Given the description of an element on the screen output the (x, y) to click on. 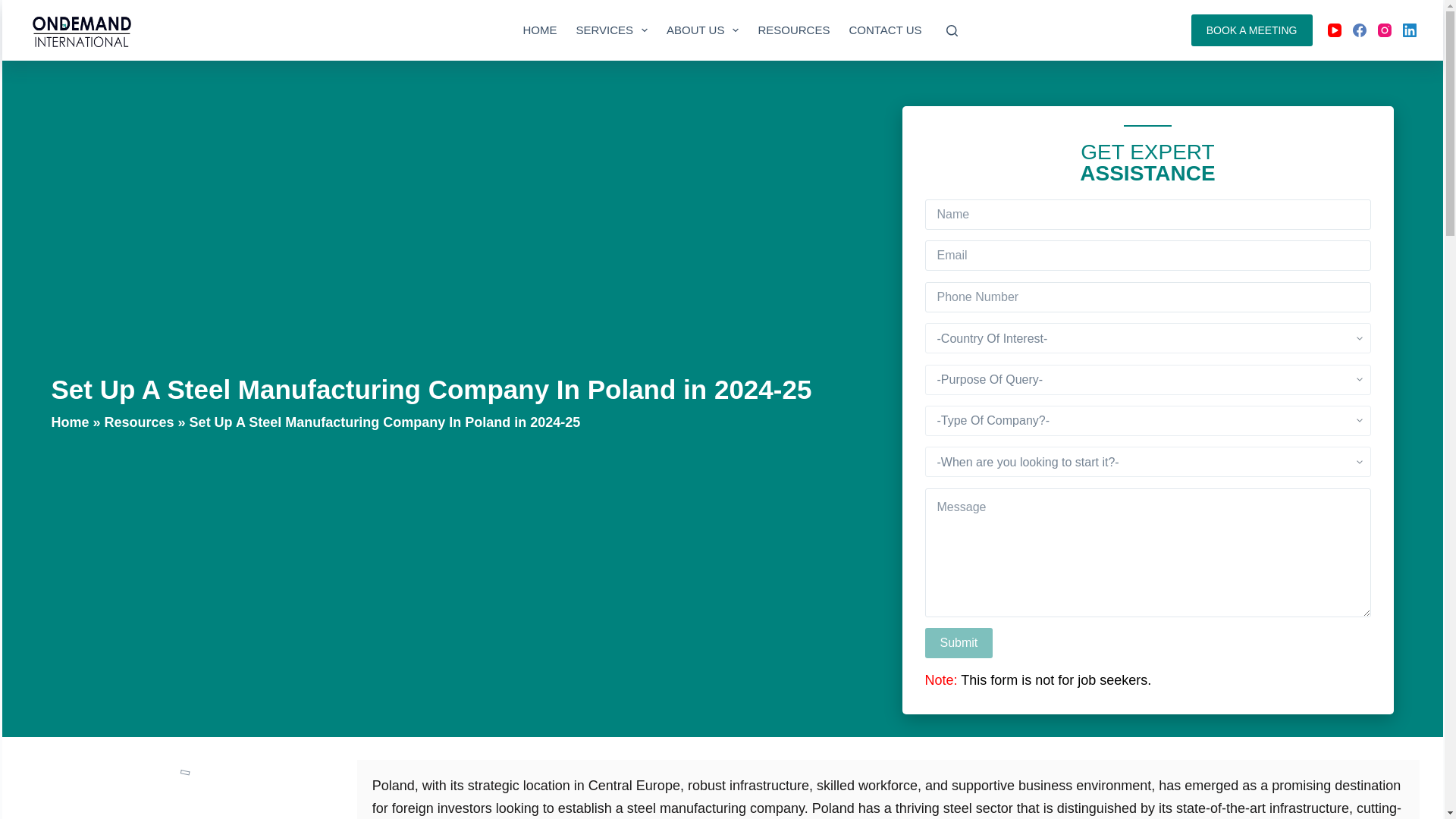
CONTACT US (885, 30)
BOOK A MEETING (1252, 29)
SERVICES (612, 30)
Skip to content (15, 7)
Submit (958, 643)
RESOURCES (794, 30)
ABOUT US (703, 30)
